Given the description of an element on the screen output the (x, y) to click on. 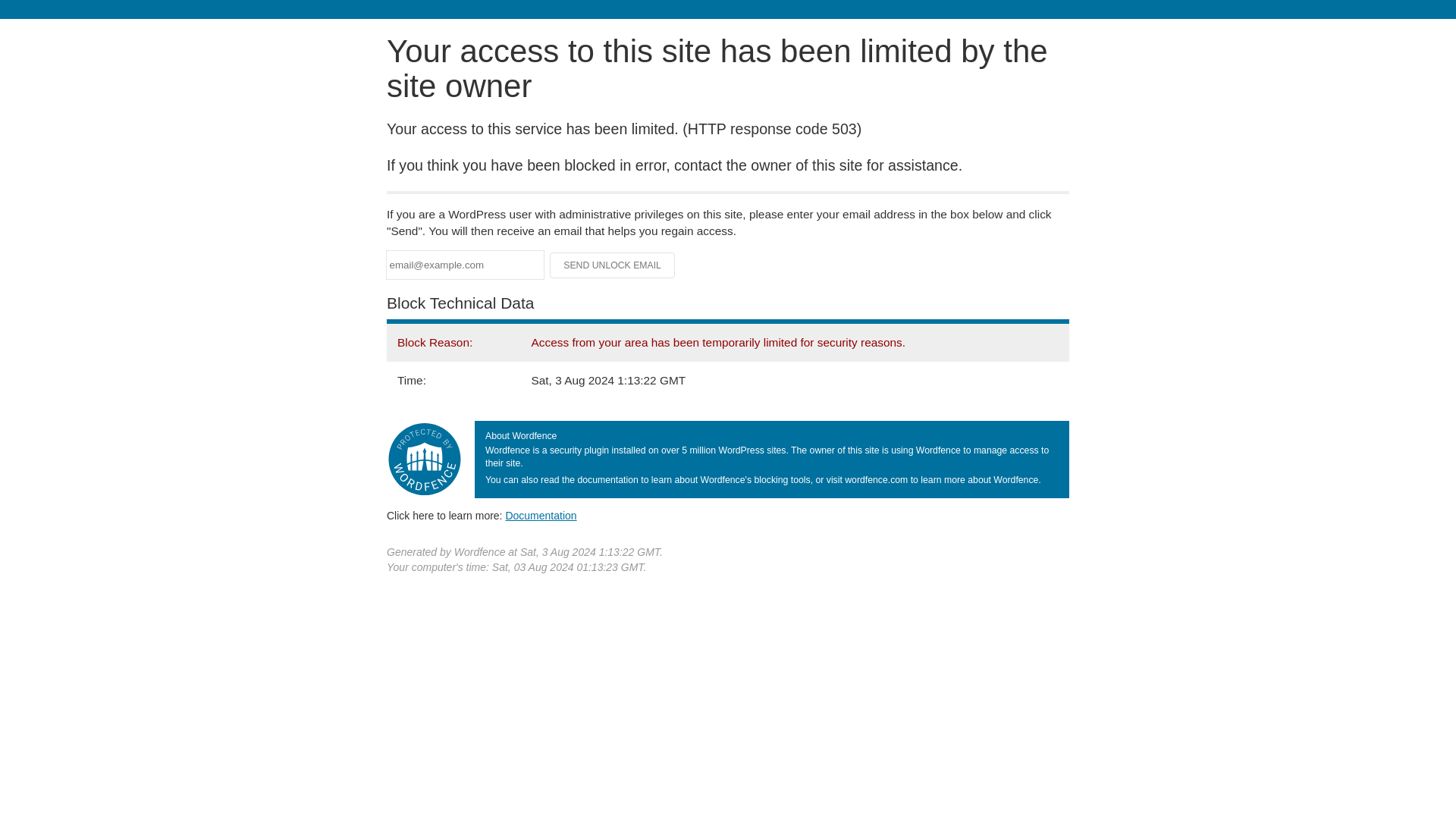
Documentation (540, 515)
Send Unlock Email (612, 265)
Send Unlock Email (612, 265)
